Given the description of an element on the screen output the (x, y) to click on. 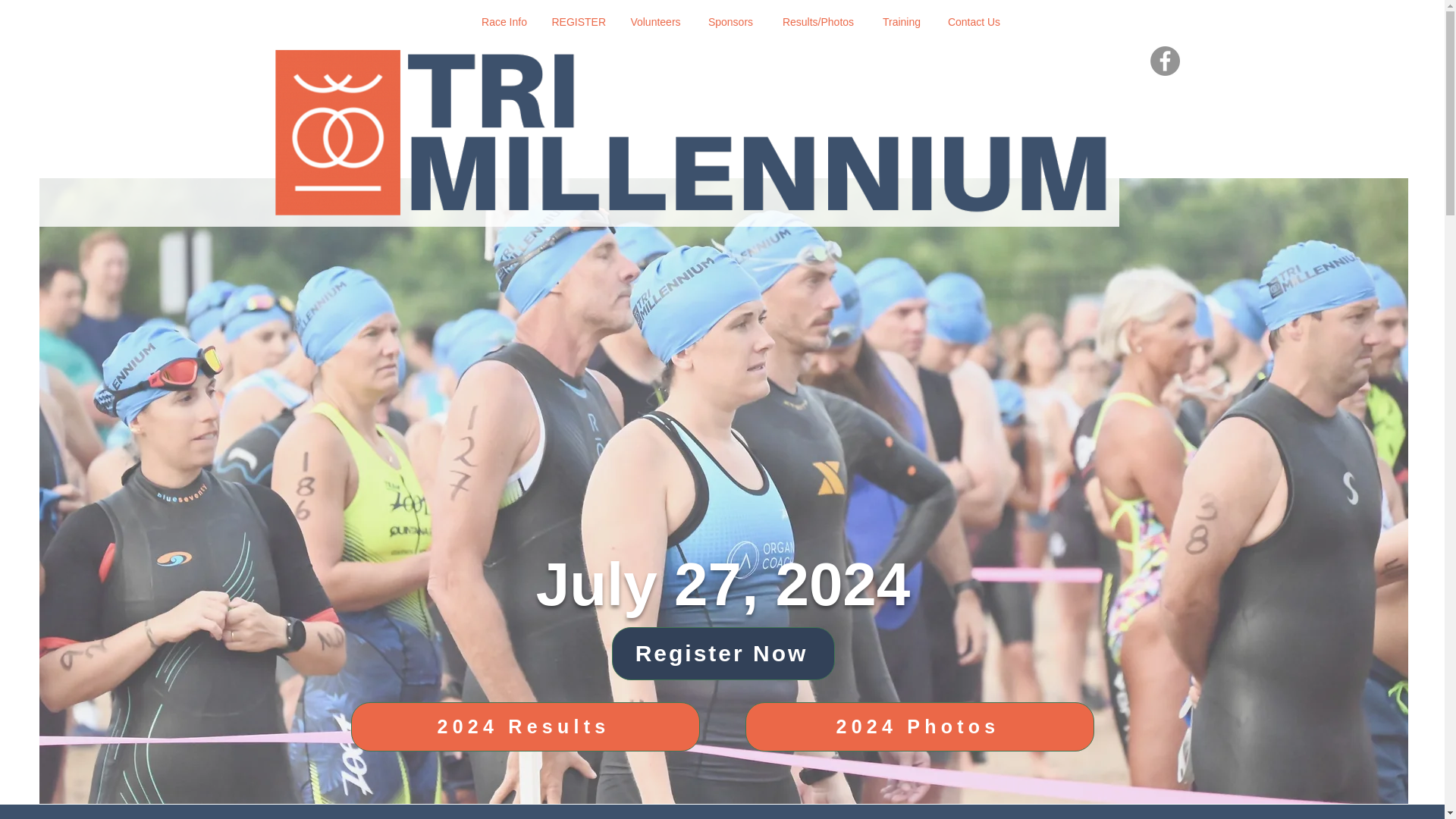
2024 Results (524, 726)
Contact Us (974, 22)
Volunteers (655, 22)
Register Now (722, 653)
2024 Photos (918, 726)
Sponsors (730, 22)
REGISTER (577, 22)
Race Info (504, 22)
Training (901, 22)
